Given the description of an element on the screen output the (x, y) to click on. 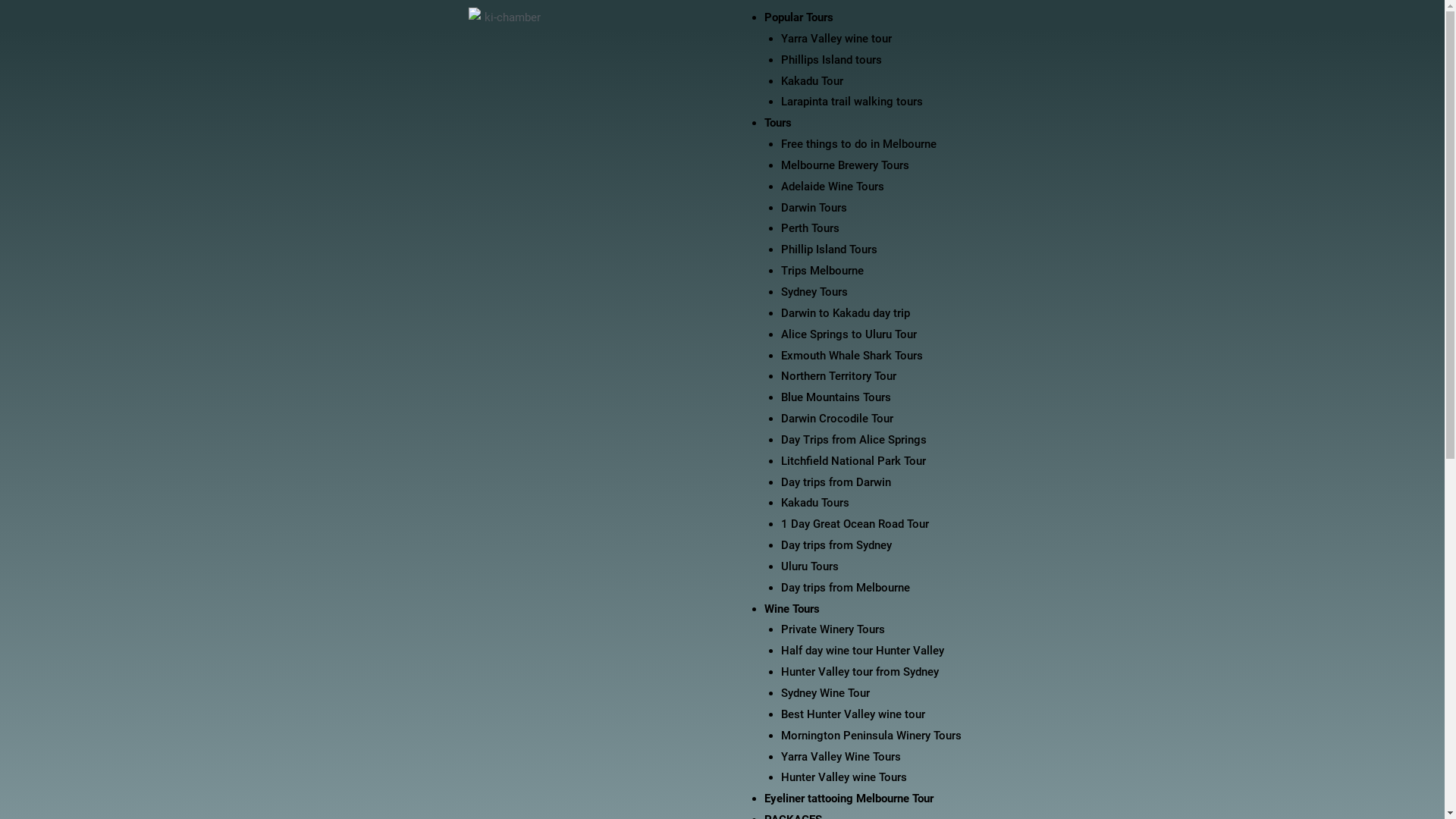
Sydney Tours Element type: text (814, 291)
Northern Territory Tour Element type: text (838, 375)
Kakadu Tours Element type: text (815, 502)
Darwin Crocodile Tour Element type: text (837, 418)
Uluru Tours Element type: text (809, 566)
Best Hunter Valley wine tour Element type: text (853, 714)
Exmouth Whale Shark Tours Element type: text (851, 355)
Tours Element type: text (777, 122)
Kakadu Tour Element type: text (812, 80)
Mornington Peninsula Winery Tours Element type: text (871, 735)
Day trips from Darwin Element type: text (836, 482)
Alice Springs to Uluru Tour Element type: text (848, 334)
Perth Tours Element type: text (810, 228)
Hunter Valley wine Tours Element type: text (843, 777)
Free things to do in Melbourne Element type: text (858, 143)
Larapinta trail walking tours Element type: text (851, 101)
Adelaide Wine Tours Element type: text (832, 186)
Yarra Valley Wine Tours Element type: text (840, 756)
Phillip Island Tours Element type: text (829, 249)
Half day wine tour Hunter Valley Element type: text (862, 650)
Popular Tours Element type: text (798, 17)
Wine Tours Element type: text (791, 608)
Sydney Wine Tour Element type: text (825, 692)
1 Day Great Ocean Road Tour Element type: text (854, 523)
Phillips Island tours Element type: text (831, 59)
Darwin to Kakadu day trip Element type: text (845, 313)
Melbourne Brewery Tours Element type: text (845, 165)
Litchfield National Park Tour Element type: text (853, 460)
Yarra Valley wine tour Element type: text (836, 38)
Trips Melbourne Element type: text (822, 270)
Blue Mountains Tours Element type: text (836, 397)
Day Trips from Alice Springs Element type: text (853, 439)
Darwin Tours Element type: text (814, 207)
Private Winery Tours Element type: text (832, 629)
Day trips from Melbourne Element type: text (845, 587)
Eyeliner tattooing Melbourne Tour Element type: text (848, 798)
Hunter Valley tour from Sydney Element type: text (859, 671)
Day trips from Sydney Element type: text (836, 545)
